Given the description of an element on the screen output the (x, y) to click on. 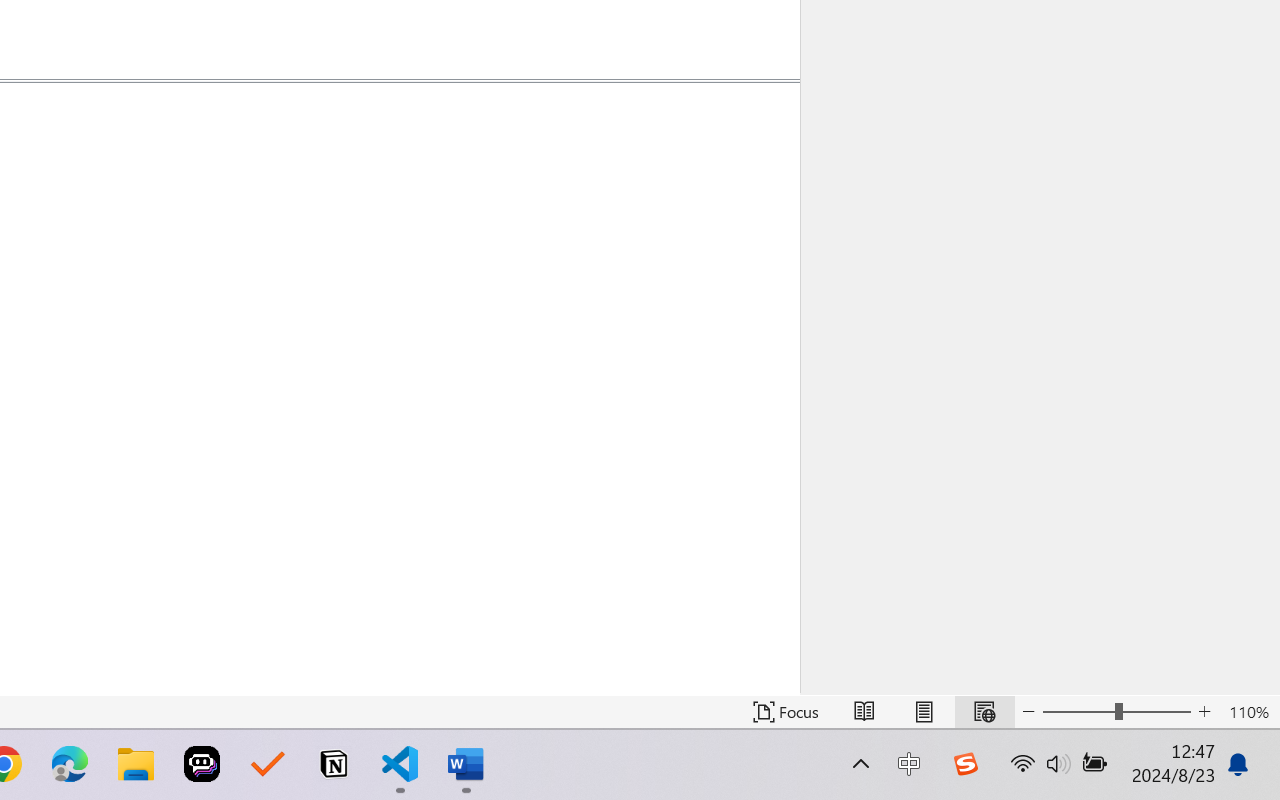
Microsoft Edge (69, 764)
Zoom 110% (1249, 712)
